Given the description of an element on the screen output the (x, y) to click on. 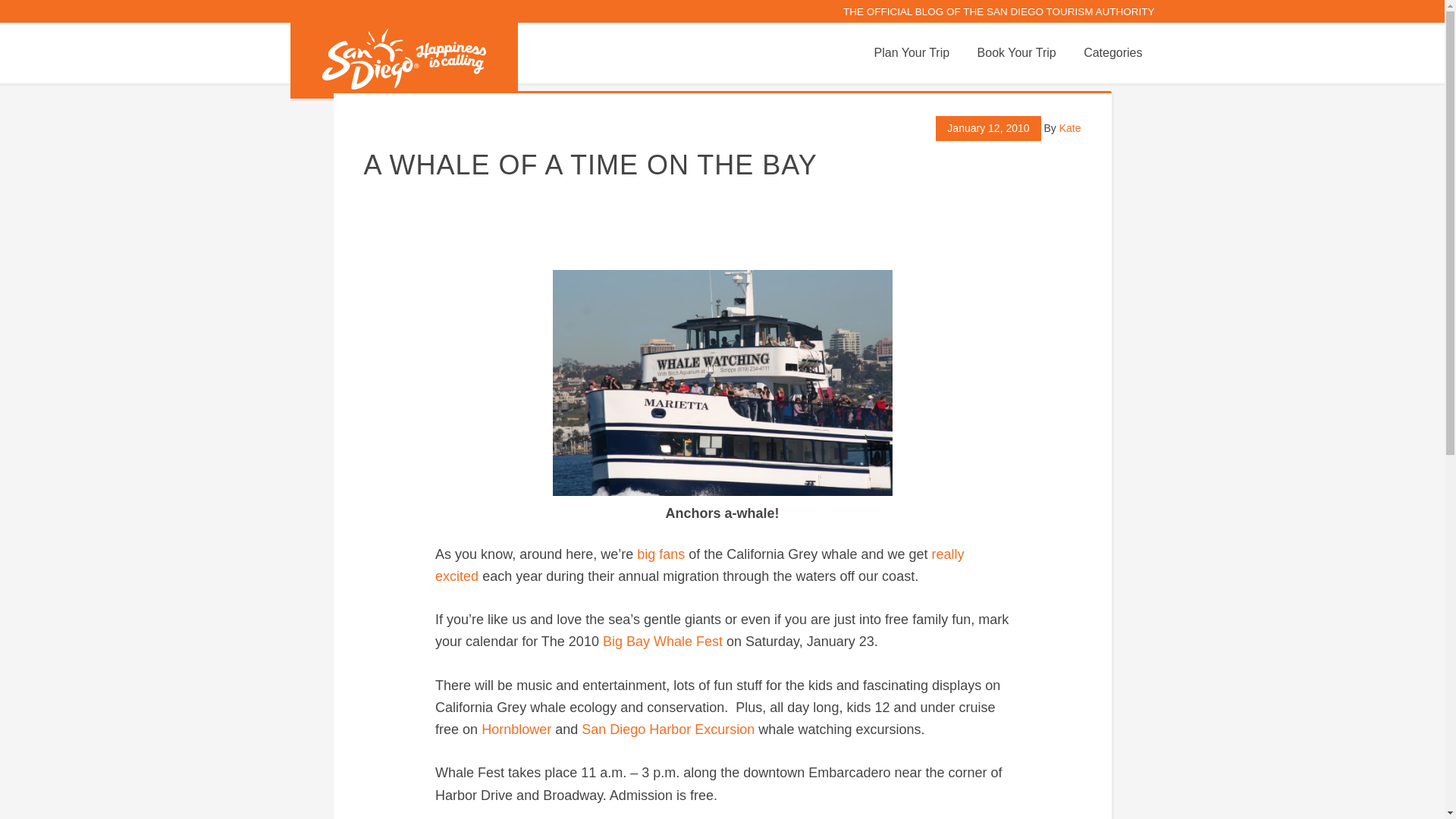
San Diego Harbor Excursion (669, 729)
Categories (1112, 52)
Plan Your Trip (911, 52)
really excited (699, 565)
big fans (662, 554)
Hornblower (517, 729)
SAN DIEGO TRAVEL BLOG (402, 60)
Whale Watching From San Diego Bay (721, 383)
Kate (1070, 128)
Book Your Trip (1016, 52)
